Given the description of an element on the screen output the (x, y) to click on. 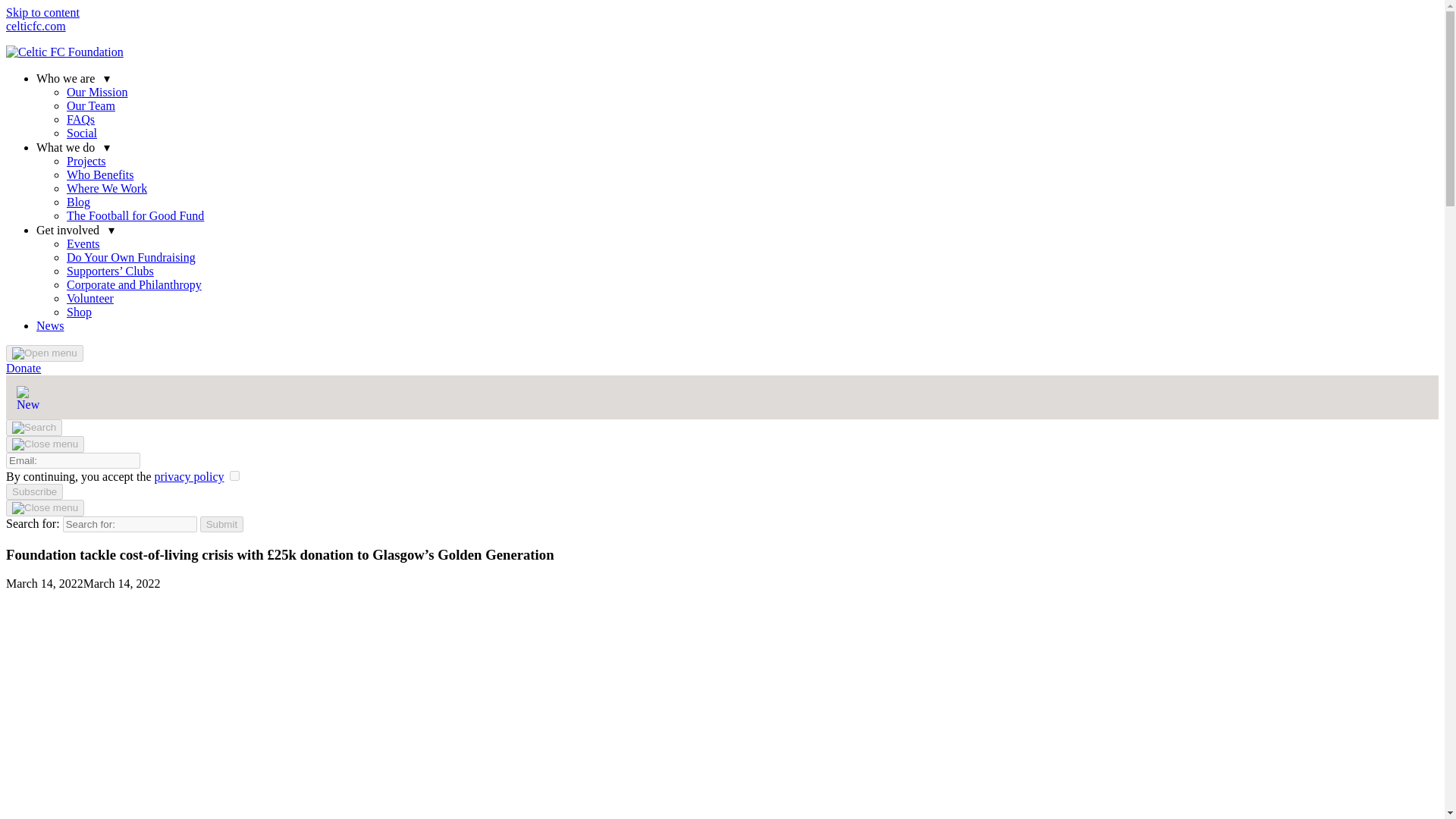
Where We Work (106, 187)
Submit (221, 524)
The Football for Good Fund (134, 215)
Corporate and Philanthropy (134, 284)
Submit (221, 524)
Do Your Own Fundraising (130, 256)
Subscribe (33, 491)
Find out how to show your support (22, 367)
News (50, 325)
Blog (78, 201)
